Given the description of an element on the screen output the (x, y) to click on. 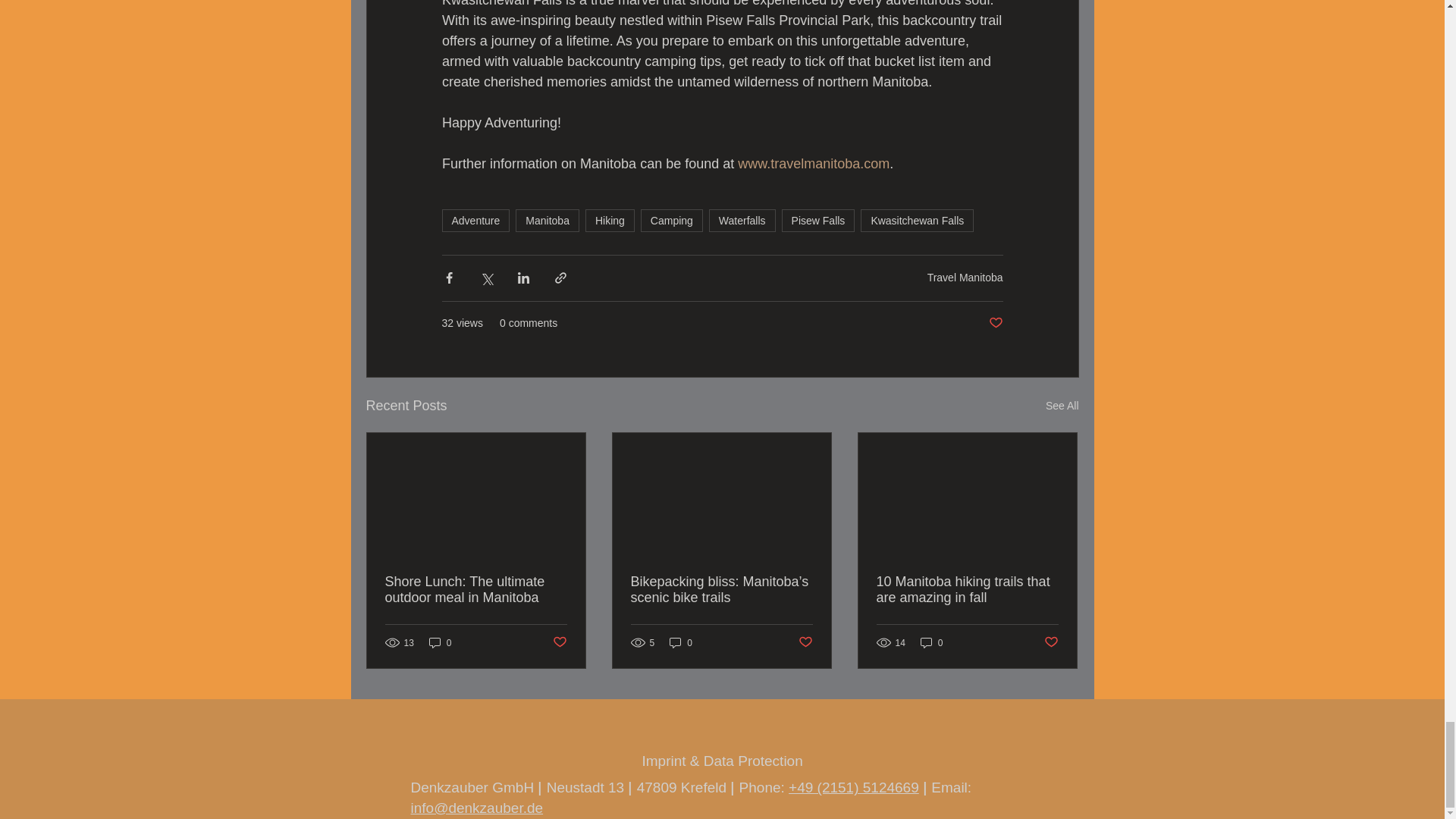
Hiking (609, 220)
Adventure (475, 220)
Kwasitchewan Falls (917, 220)
Pisew Falls (818, 220)
www.travelmanitoba.com (813, 163)
Manitoba (547, 220)
Waterfalls (742, 220)
Camping (671, 220)
